Given the description of an element on the screen output the (x, y) to click on. 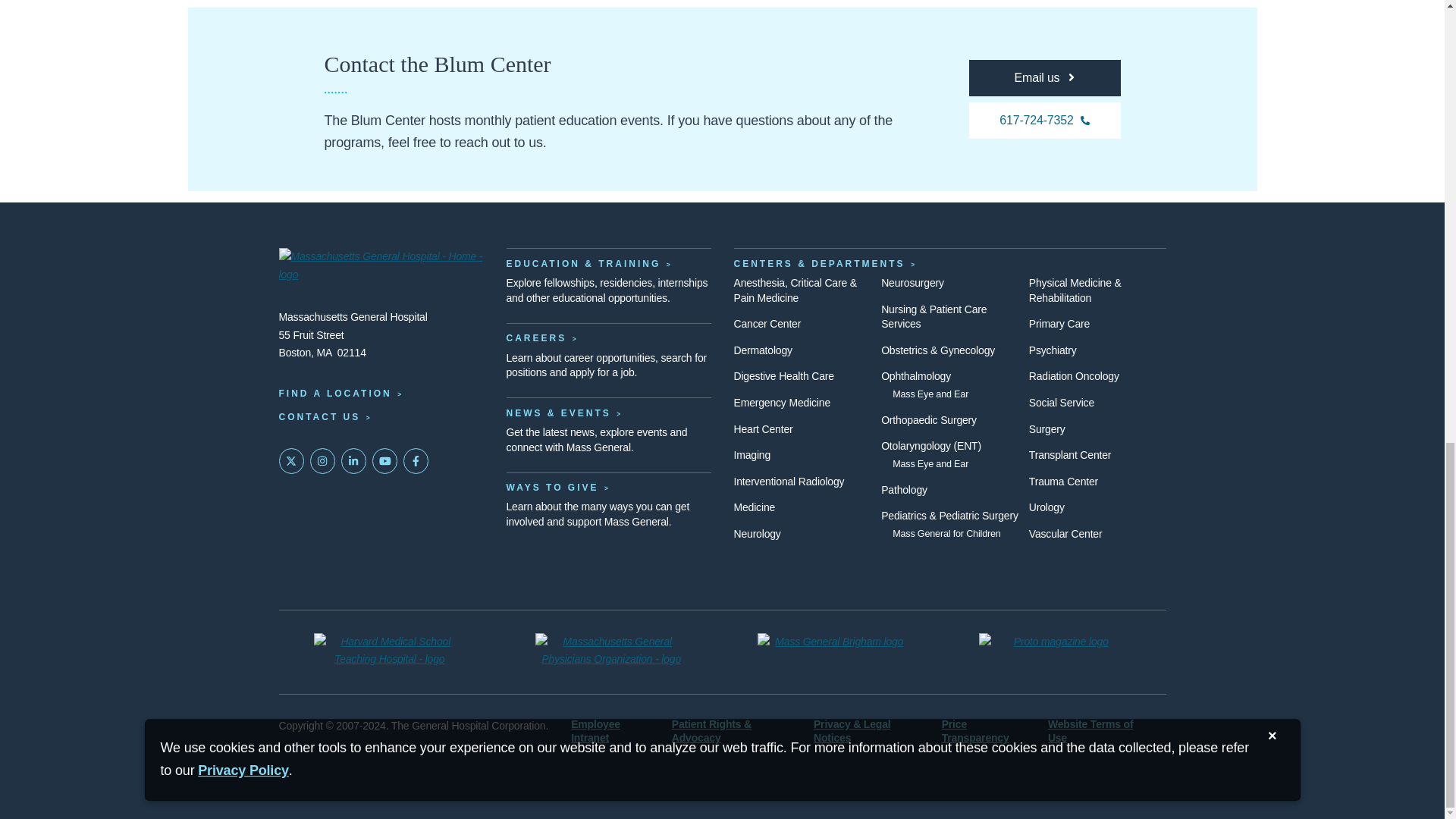
Massachusetts General Hospital - Home (381, 266)
